Given the description of an element on the screen output the (x, y) to click on. 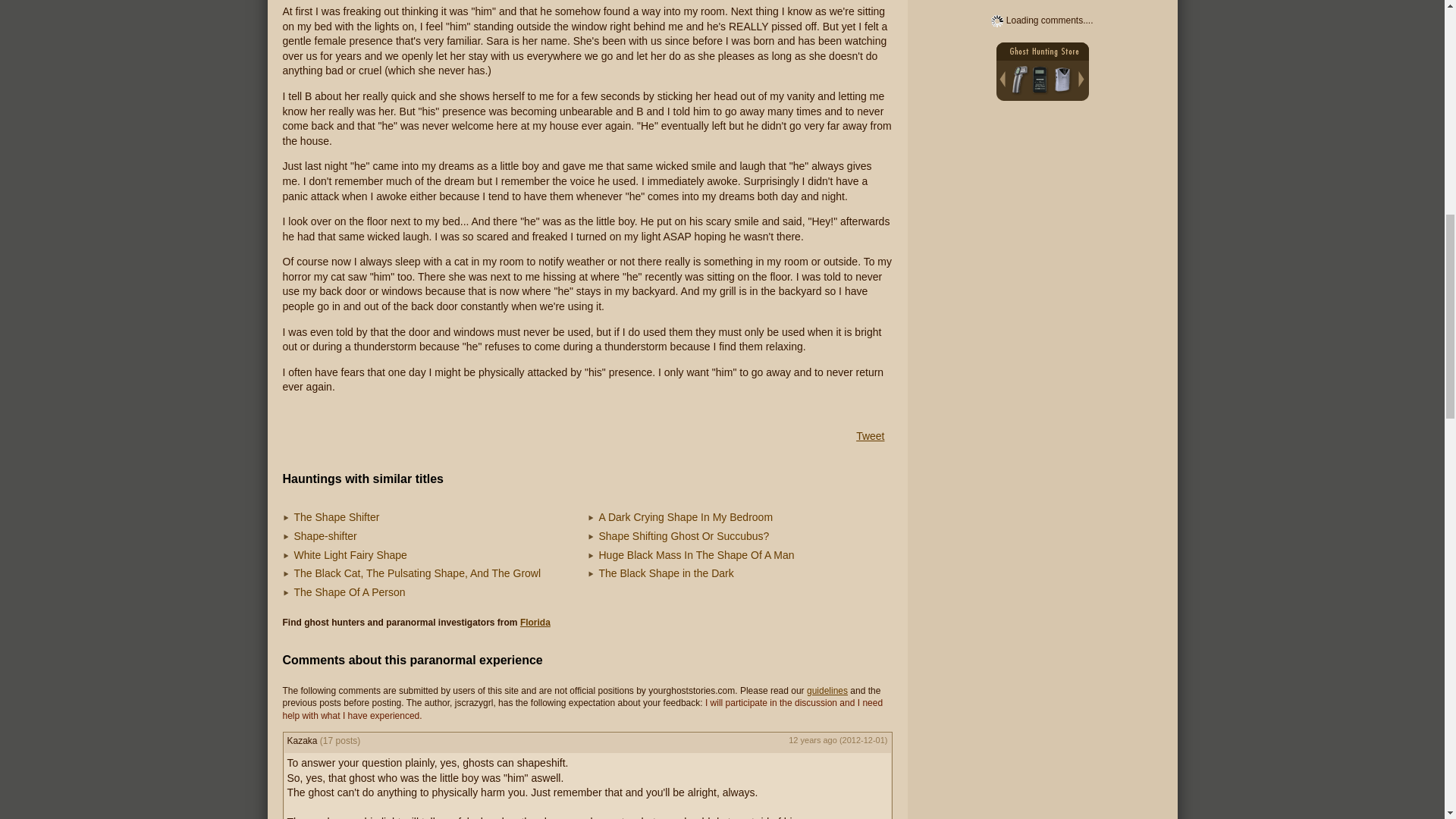
Shape-shifter (325, 535)
Tweet (869, 435)
Shape Shifting Ghost Or Succubus? (684, 535)
A Dark Crying Shape In My Bedroom (685, 517)
The Shape Of A Person (350, 592)
White Light Fairy Shape (350, 554)
The Black Cat, The Pulsating Shape, And The Growl (417, 573)
The Shape Shifter (337, 517)
Huge Black Mass In The Shape Of A Man (696, 554)
